Given the description of an element on the screen output the (x, y) to click on. 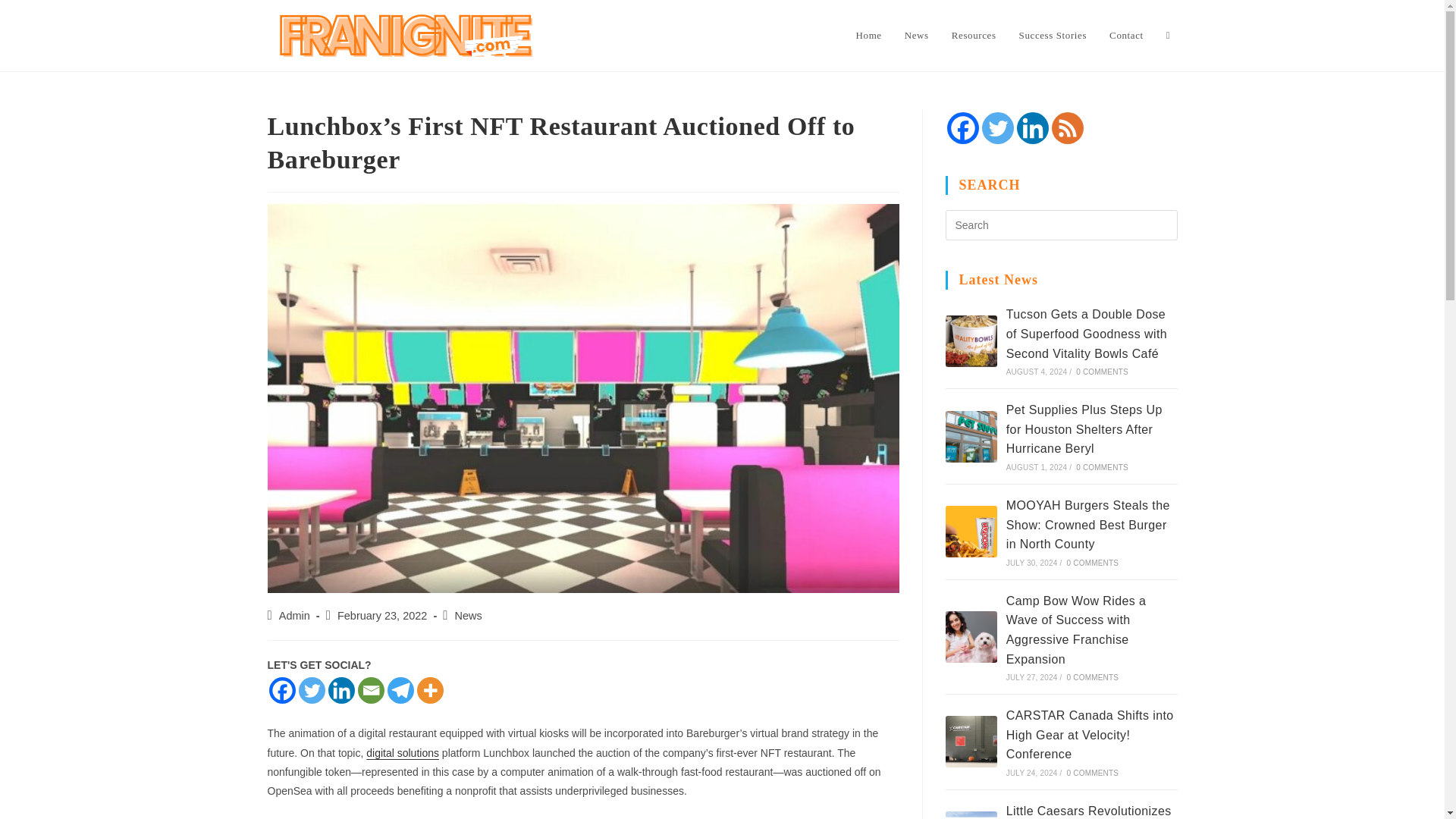
Facebook (962, 128)
Admin (294, 615)
Contact (1125, 35)
News (467, 615)
RSS feed (1067, 128)
Email (371, 690)
digital solutions (402, 752)
Linkedin (340, 690)
Twitter (997, 128)
